Given the description of an element on the screen output the (x, y) to click on. 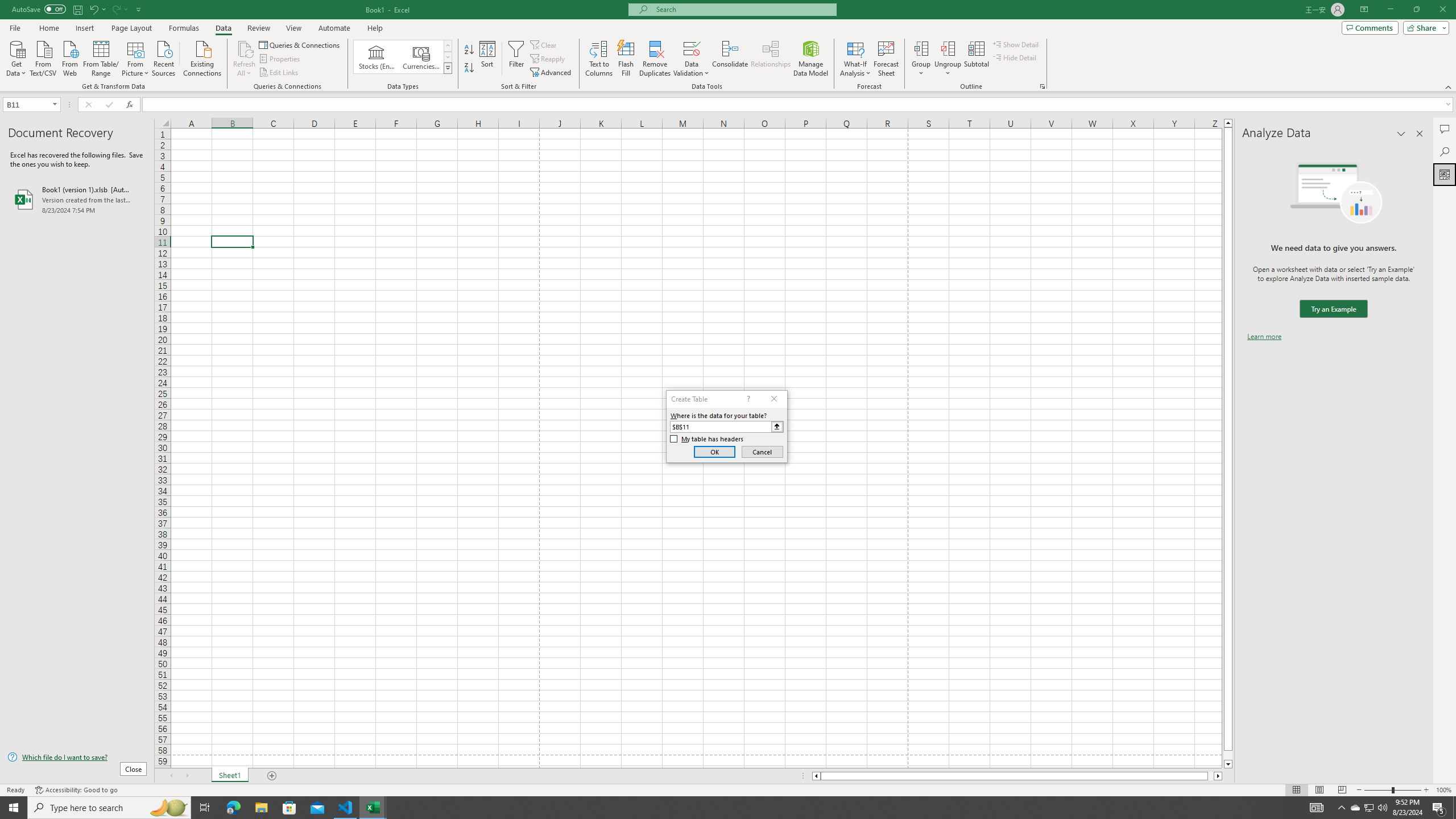
Group and Outline Settings (1042, 85)
Scroll Left (171, 775)
Open (54, 104)
Text to Columns... (598, 58)
Help (374, 28)
Page Layout (1318, 790)
Ungroup... (947, 58)
Which file do I want to save? (77, 757)
Reapply (548, 58)
Sheet1 (229, 775)
Group... (921, 48)
Line up (1228, 122)
Add Sheet (272, 775)
From Web (69, 57)
